Given the description of an element on the screen output the (x, y) to click on. 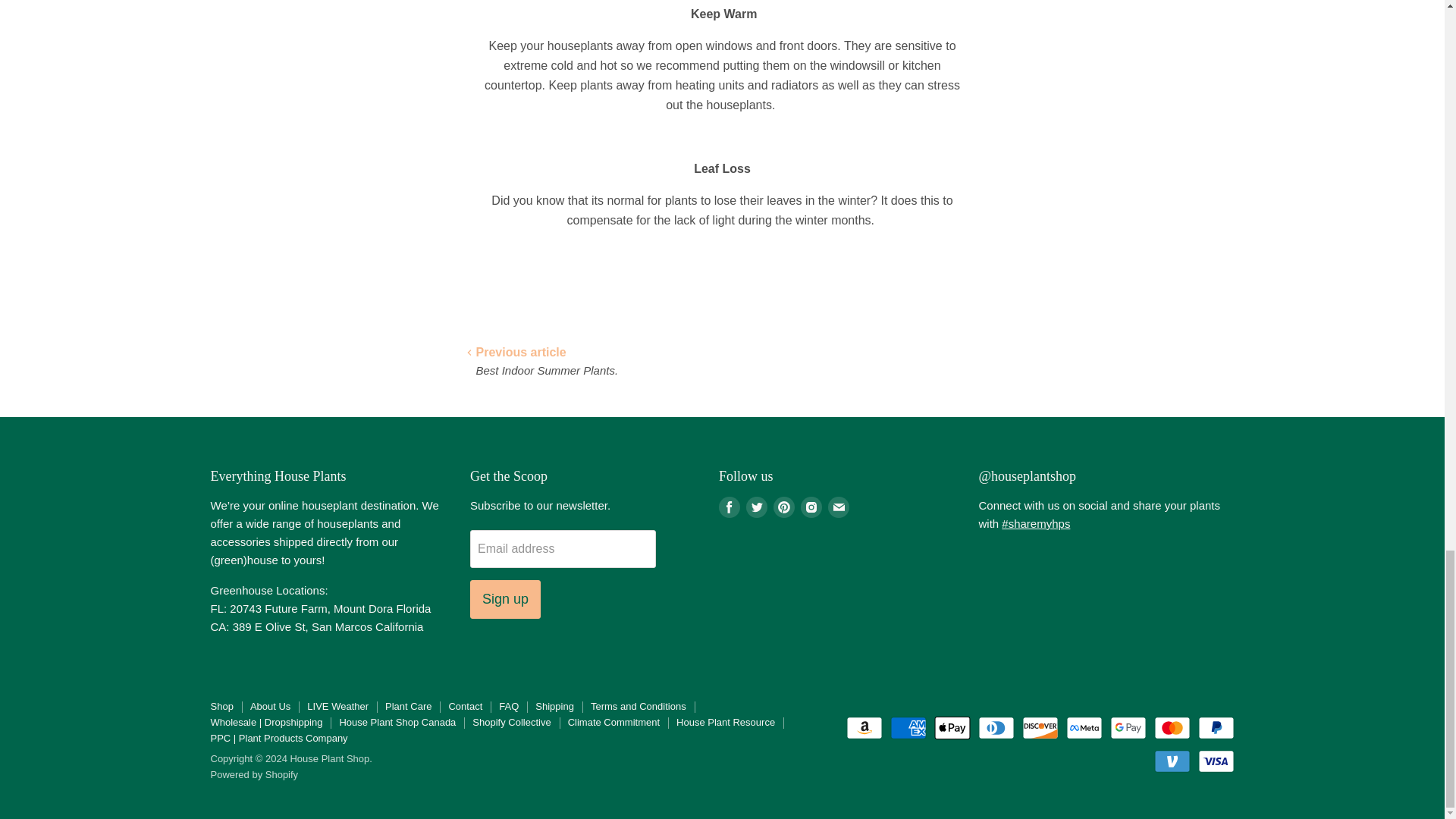
American Express (907, 727)
Pinterest (783, 506)
Twitter (756, 506)
Apple Pay (952, 727)
Instagram (811, 506)
E-mail (838, 506)
Amazon (863, 727)
Facebook (729, 506)
